Given the description of an element on the screen output the (x, y) to click on. 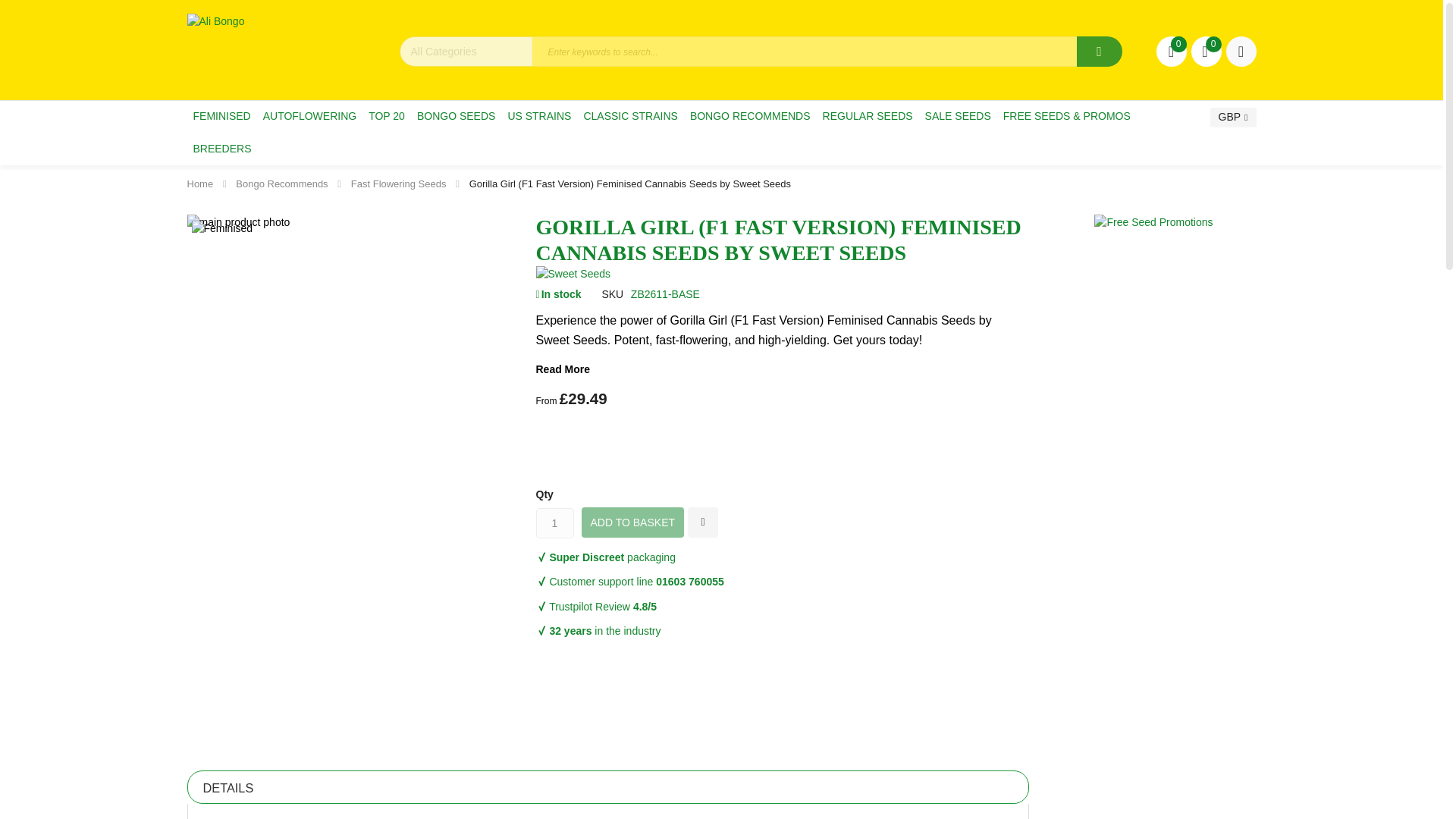
BONGO RECOMMENDS (750, 115)
CLASSIC STRAINS (629, 115)
Search (1099, 51)
Go to Home Page (199, 183)
BONGO SEEDS (455, 115)
Qty (554, 522)
TOP 20 (386, 115)
1 (554, 522)
0 (1206, 51)
US STRAINS (538, 115)
